Given the description of an element on the screen output the (x, y) to click on. 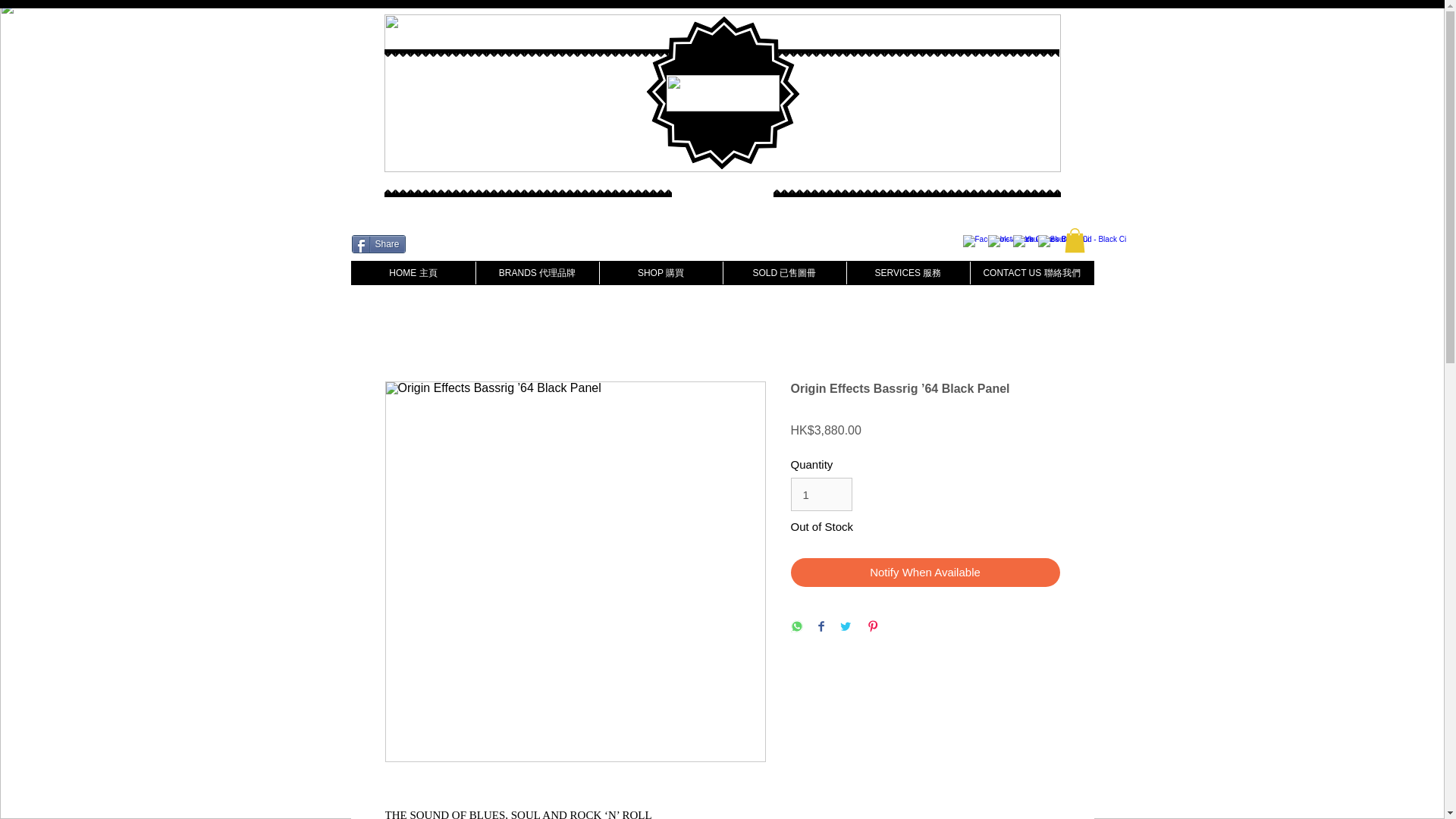
1 (820, 494)
Share (379, 244)
Share (379, 244)
